Given the description of an element on the screen output the (x, y) to click on. 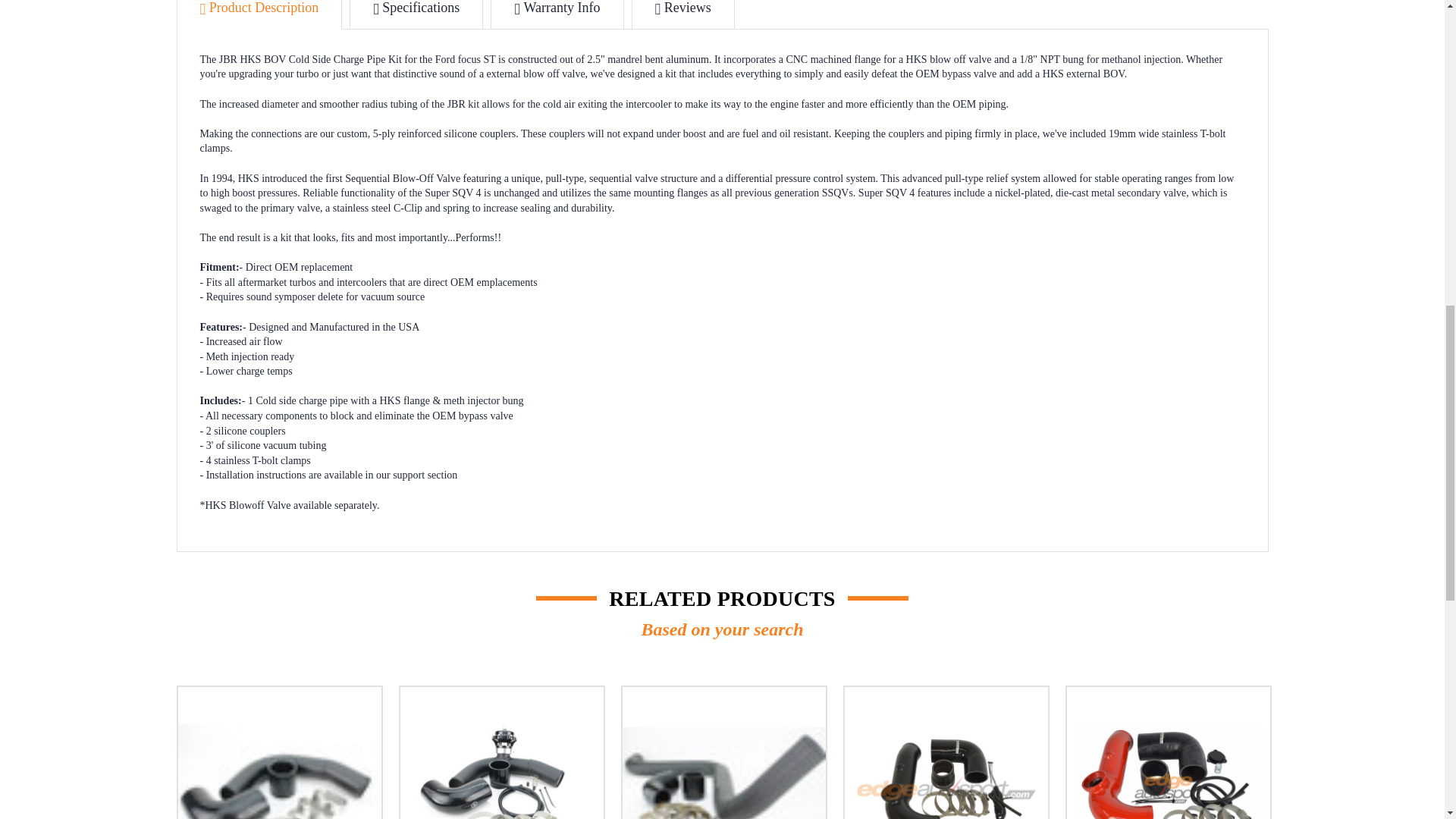
JBR Hot Side Charge Pipe Kit Ford Focus ST 2013-2018 (723, 773)
JBR Cold Side Charge Pipe Kit TIAL Ford Focus ST 2013-2018 (501, 772)
